Given the description of an element on the screen output the (x, y) to click on. 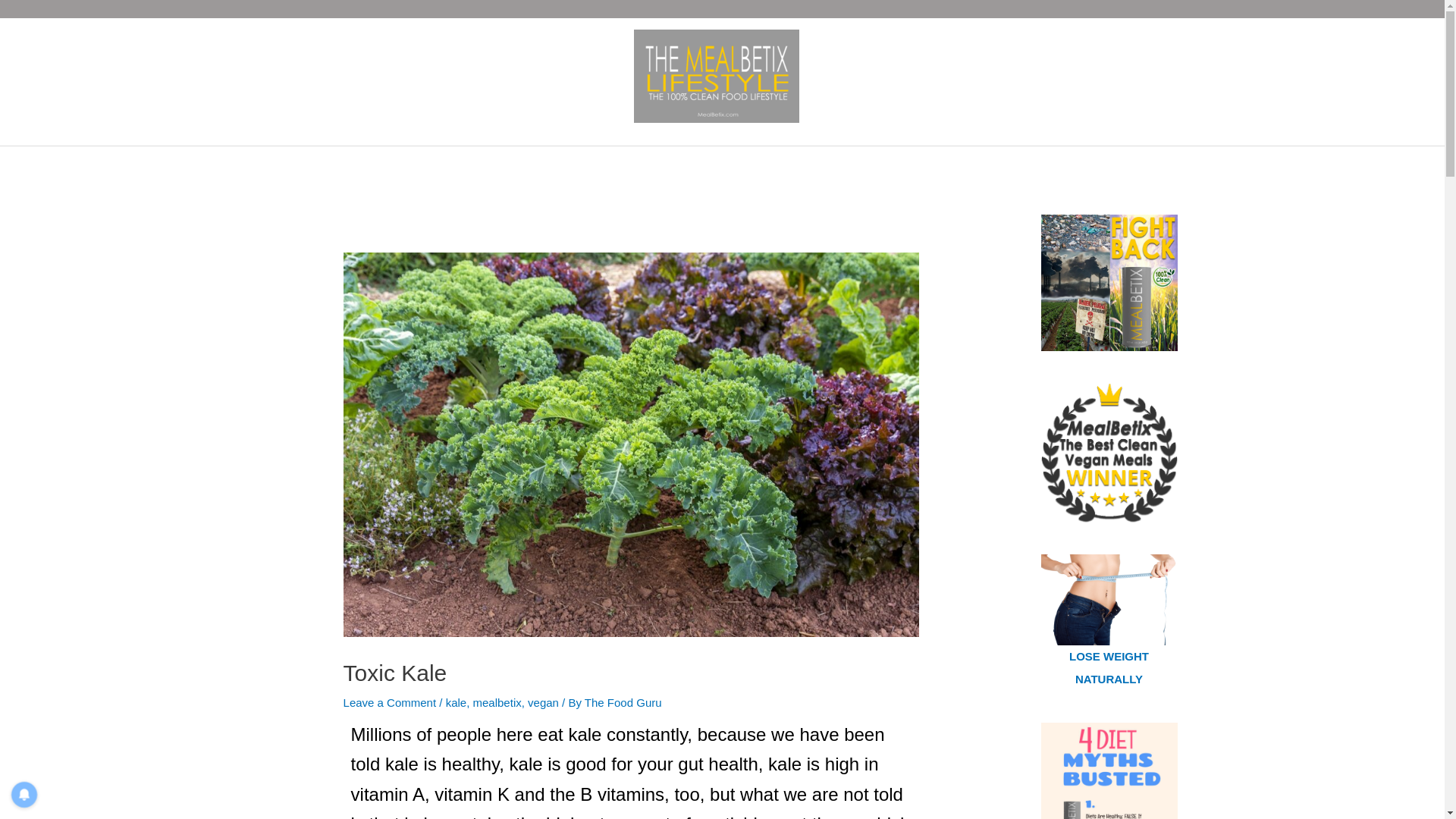
LOSE WEIGHT NATURALLY (1108, 667)
vegan (543, 702)
kale (456, 702)
Leave a Comment (389, 702)
mealbetix (497, 702)
The Food Guru (623, 702)
View all posts by The Food Guru (623, 702)
